Given the description of an element on the screen output the (x, y) to click on. 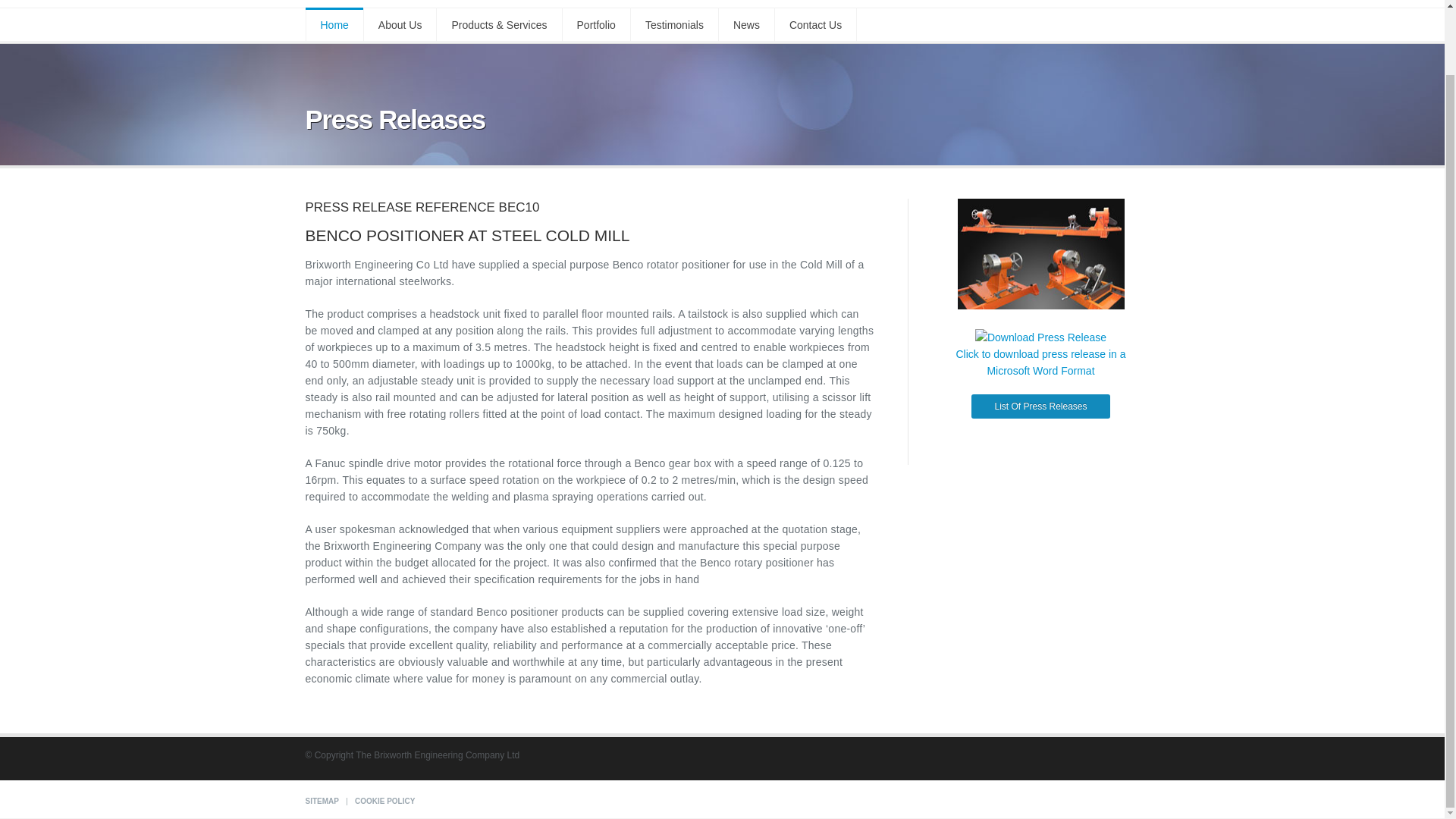
Home (333, 24)
List Of Press Releases (1040, 405)
COOKIE POLICY (384, 800)
Click to download press release in a Microsoft Word Format (1040, 362)
Contact Us (815, 24)
News (745, 24)
SITEMAP (320, 800)
List Of Press Releases (1040, 405)
About Us (400, 24)
Testimonials (674, 24)
Portfolio (596, 24)
